Given the description of an element on the screen output the (x, y) to click on. 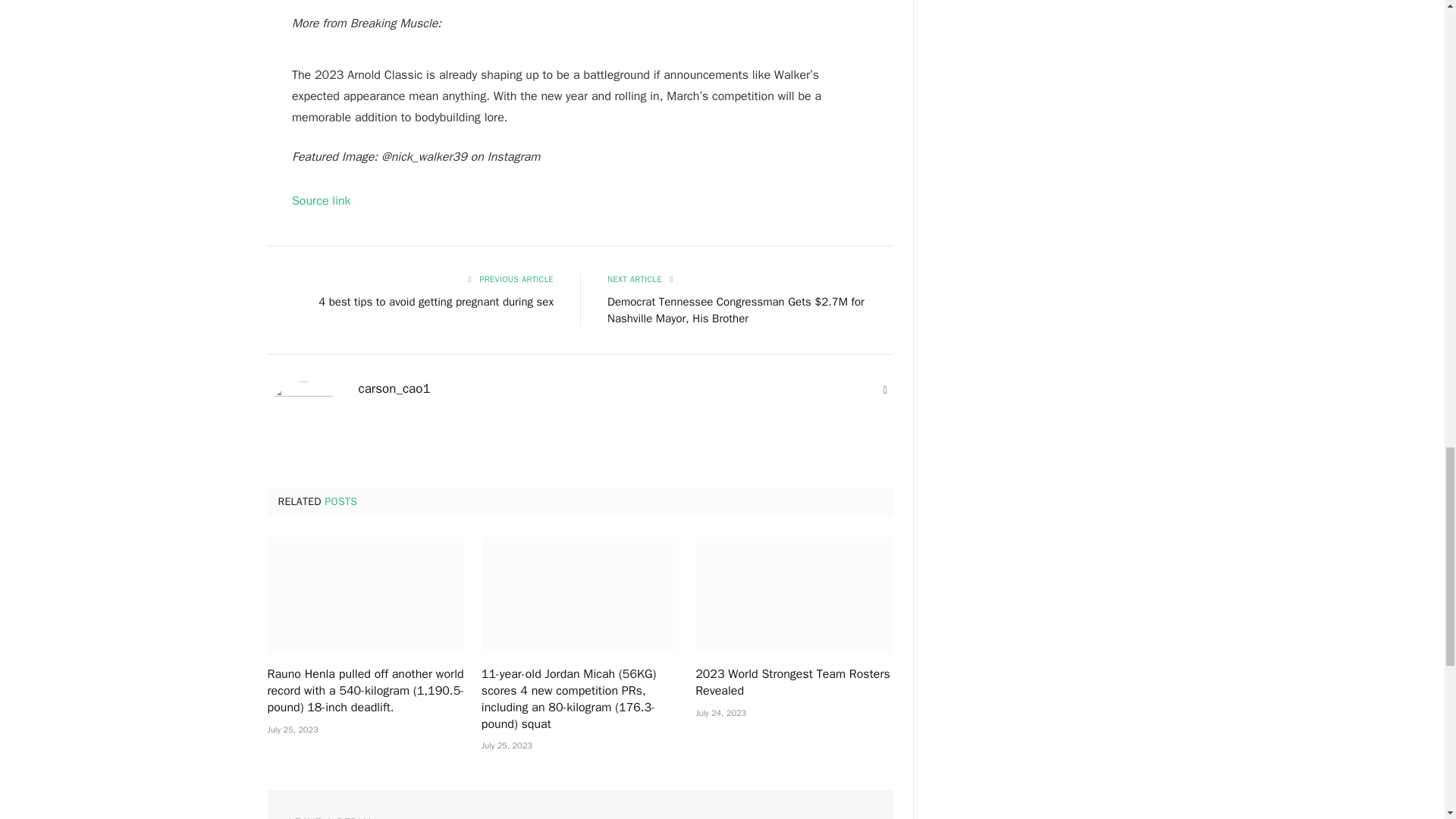
2023 World Strongest Team Rosters Revealed (793, 595)
Website (885, 389)
Source link (321, 200)
4 best tips to avoid getting pregnant during sex (435, 300)
2023 World Strongest Team Rosters Revealed (793, 683)
Website (885, 389)
